Given the description of an element on the screen output the (x, y) to click on. 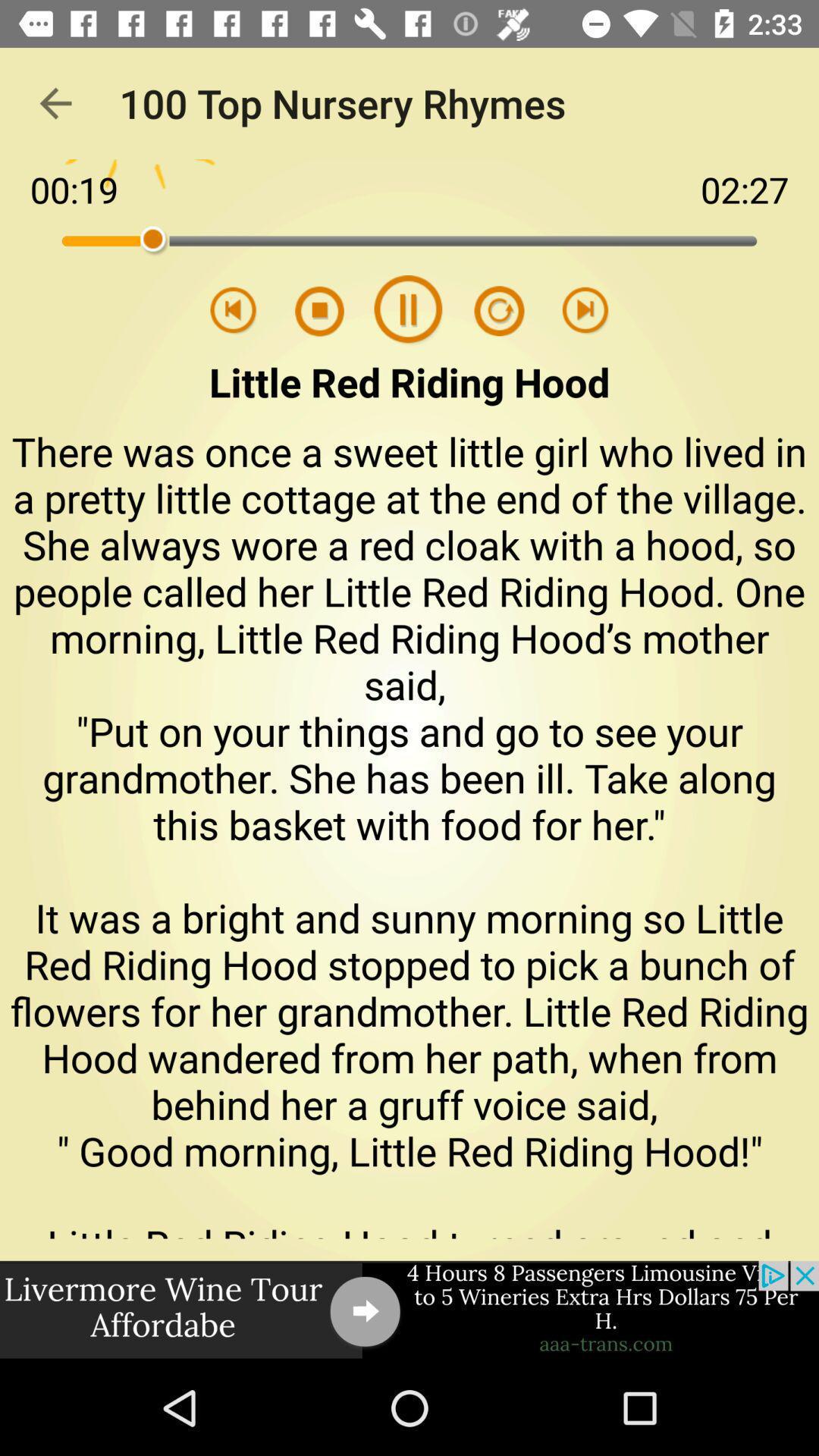
go to play (329, 310)
